Given the description of an element on the screen output the (x, y) to click on. 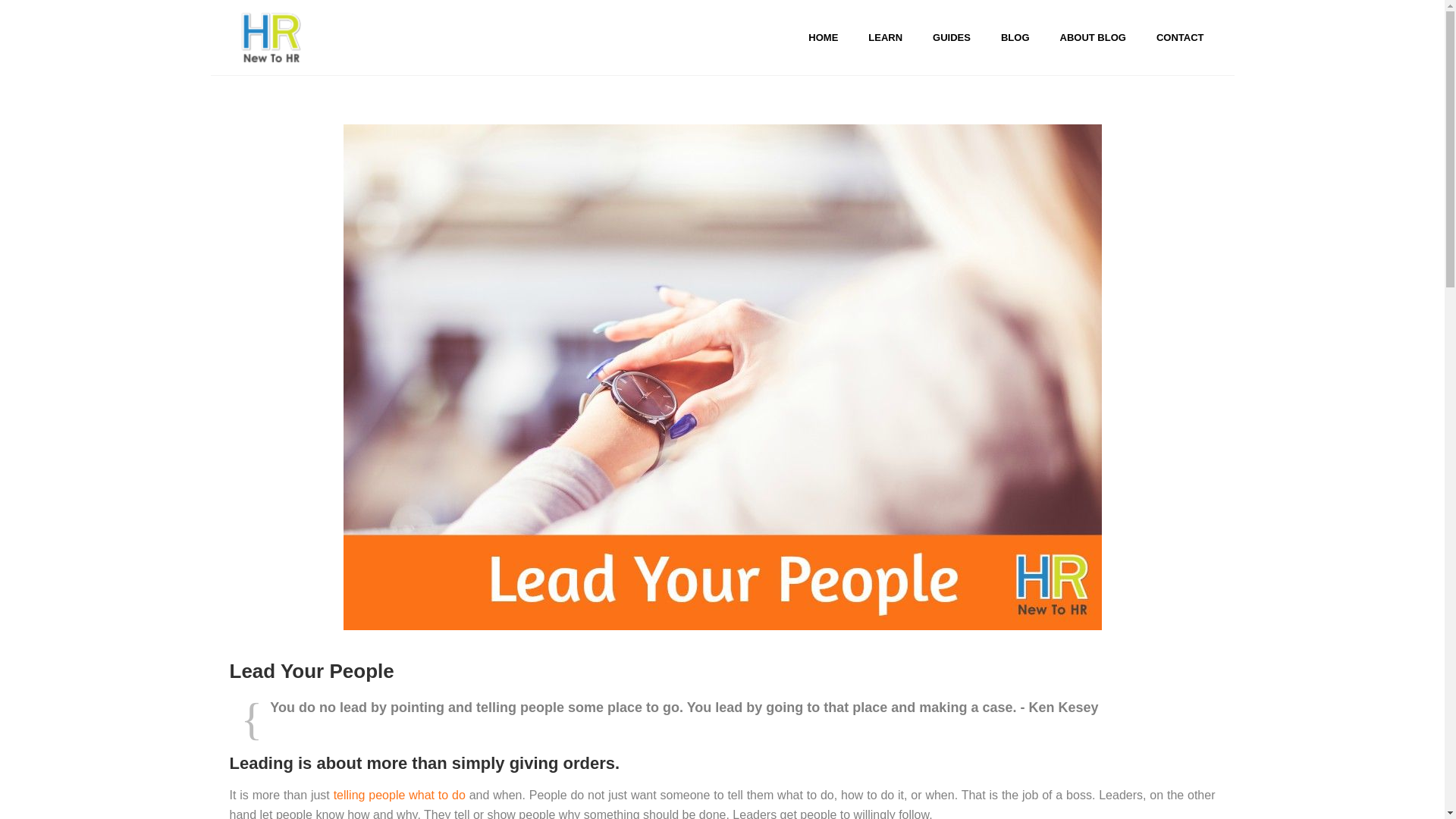
GUIDES (951, 37)
HOME (823, 37)
LEARN (885, 37)
ABOUT BLOG (1093, 37)
Contact Us (1180, 37)
CONTACT (1180, 37)
Knowledge Bites (885, 37)
Guides (951, 37)
About Blog (1093, 37)
BLOG (1015, 37)
